Given the description of an element on the screen output the (x, y) to click on. 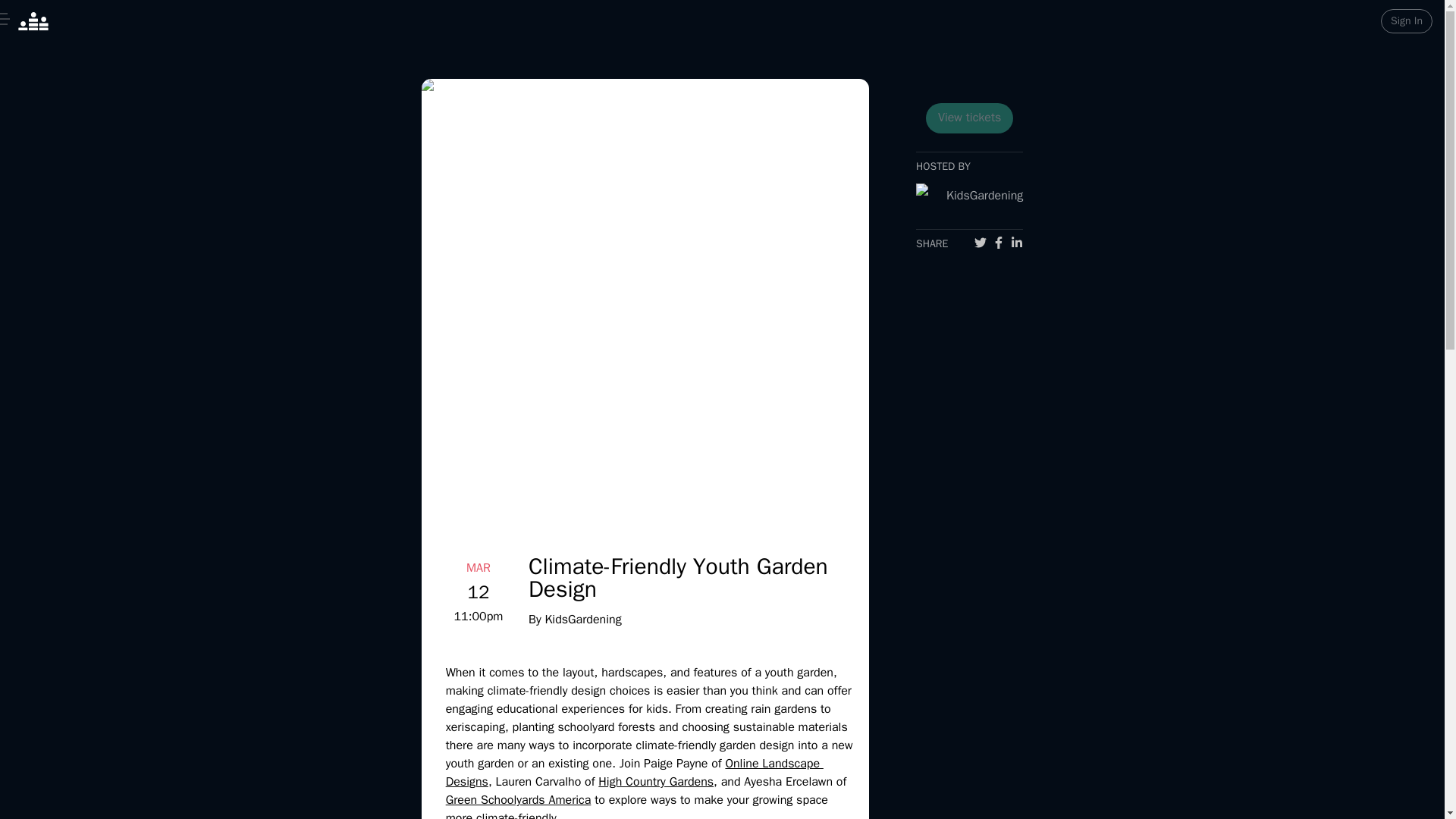
Sign In (1406, 21)
View tickets (969, 118)
